Given the description of an element on the screen output the (x, y) to click on. 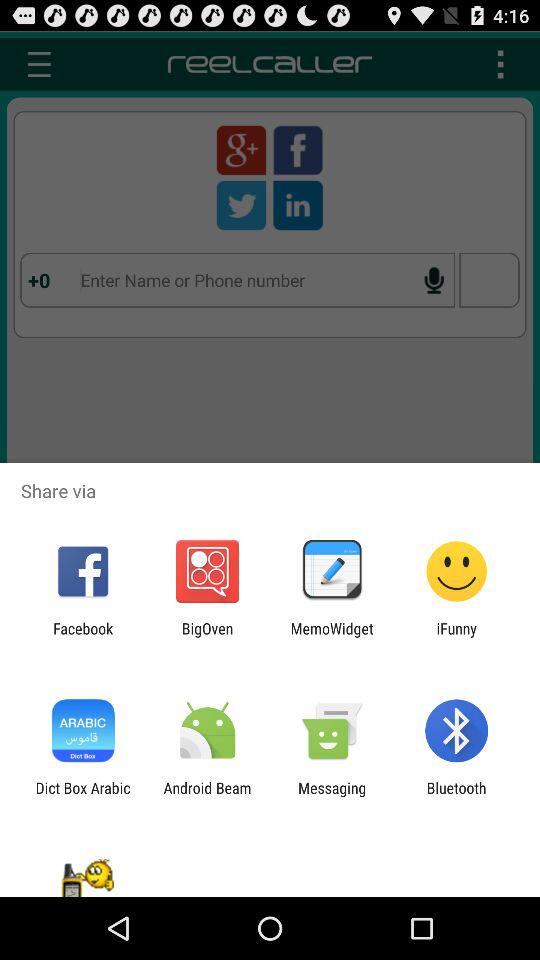
select the facebook app (83, 637)
